Given the description of an element on the screen output the (x, y) to click on. 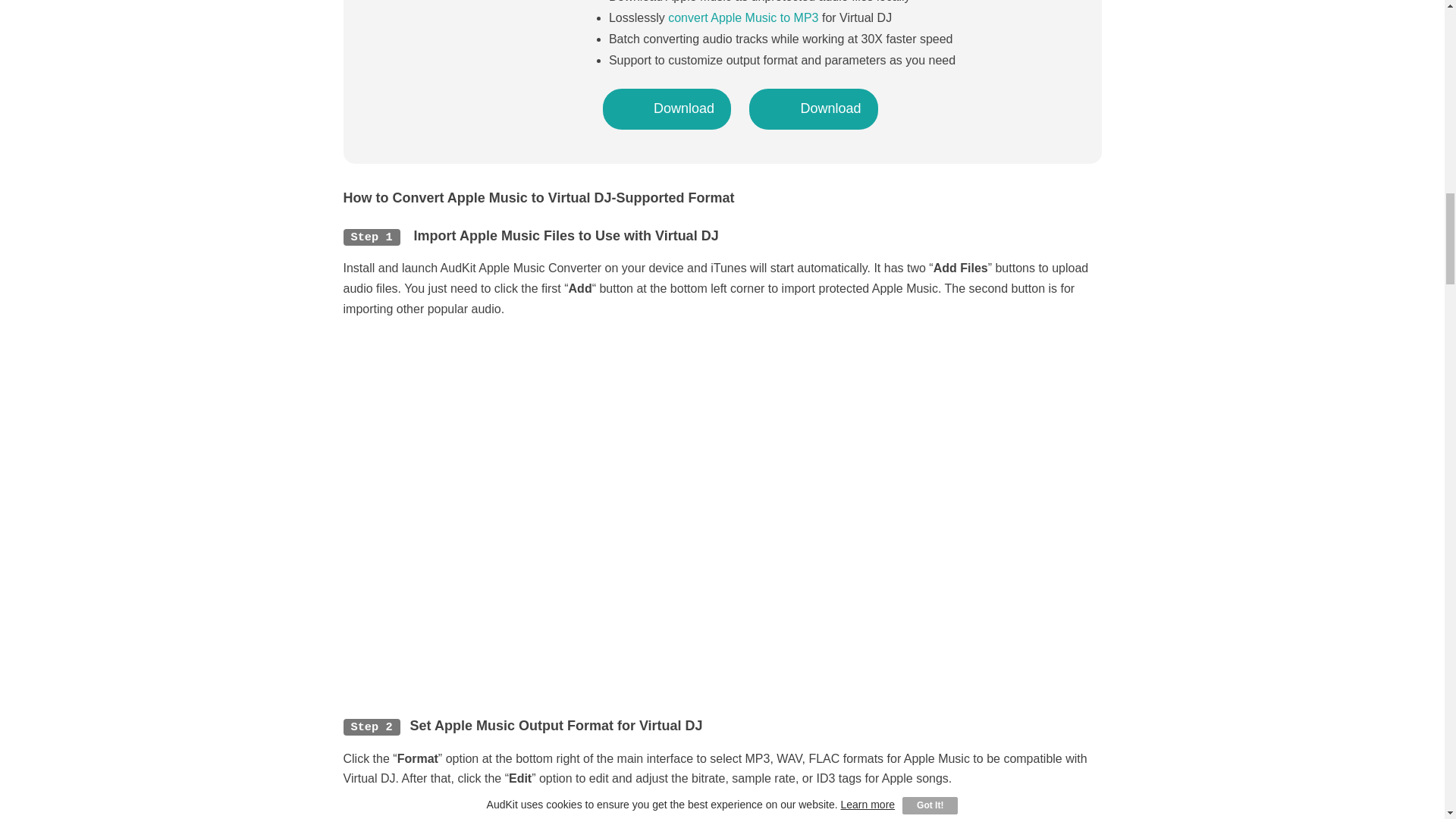
Download (666, 108)
convert Apple Music to MP3 (743, 17)
Download (813, 108)
